Given the description of an element on the screen output the (x, y) to click on. 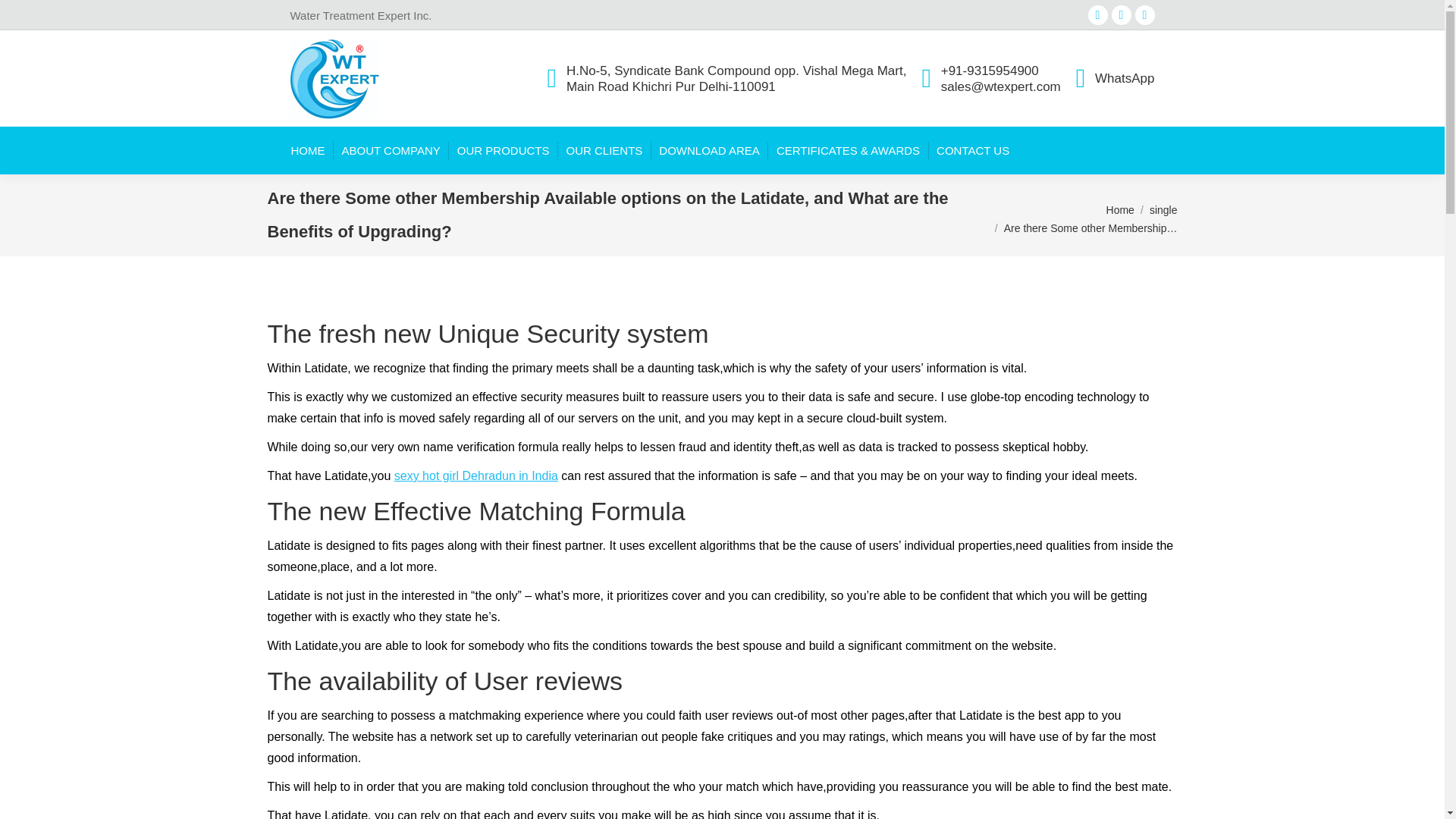
HOME (308, 150)
Linkedin page opens in new window (1121, 14)
WhatsApp (1114, 78)
YouTube page opens in new window (1144, 14)
Facebook page opens in new window (1097, 14)
Facebook page opens in new window (1097, 14)
single (1163, 209)
ABOUT COMPANY (389, 150)
OUR PRODUCTS (503, 150)
Linkedin page opens in new window (1121, 14)
Home (1120, 209)
YouTube page opens in new window (1144, 14)
